Given the description of an element on the screen output the (x, y) to click on. 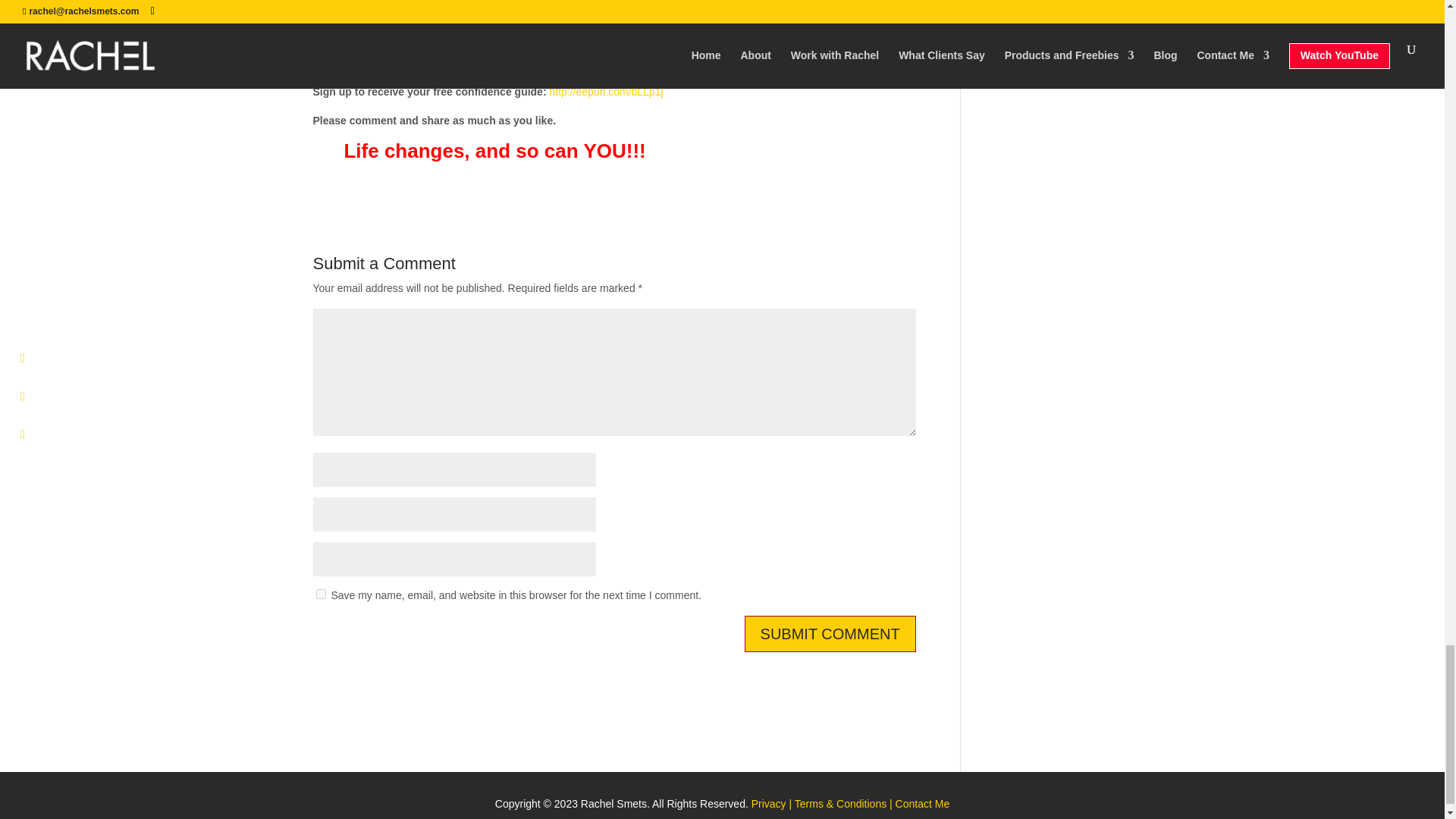
Submit Comment (829, 633)
yes (319, 593)
